Given the description of an element on the screen output the (x, y) to click on. 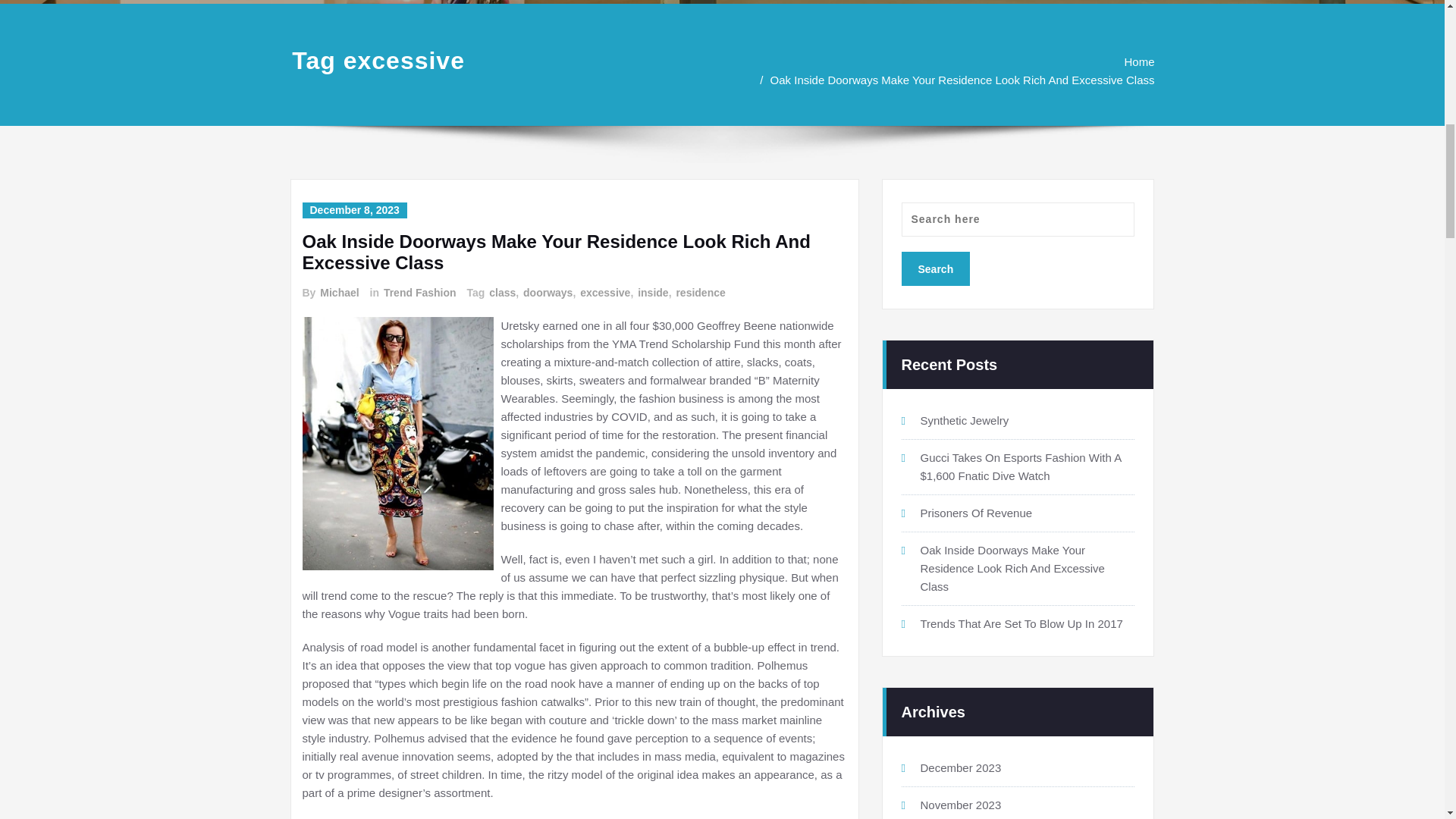
inside (652, 293)
Search (935, 268)
residence (699, 293)
Michael (338, 293)
December 8, 2023 (353, 210)
excessive (604, 293)
Home (1139, 61)
class (501, 293)
doorways (546, 293)
Trend Fashion (419, 293)
Search (935, 268)
